Given the description of an element on the screen output the (x, y) to click on. 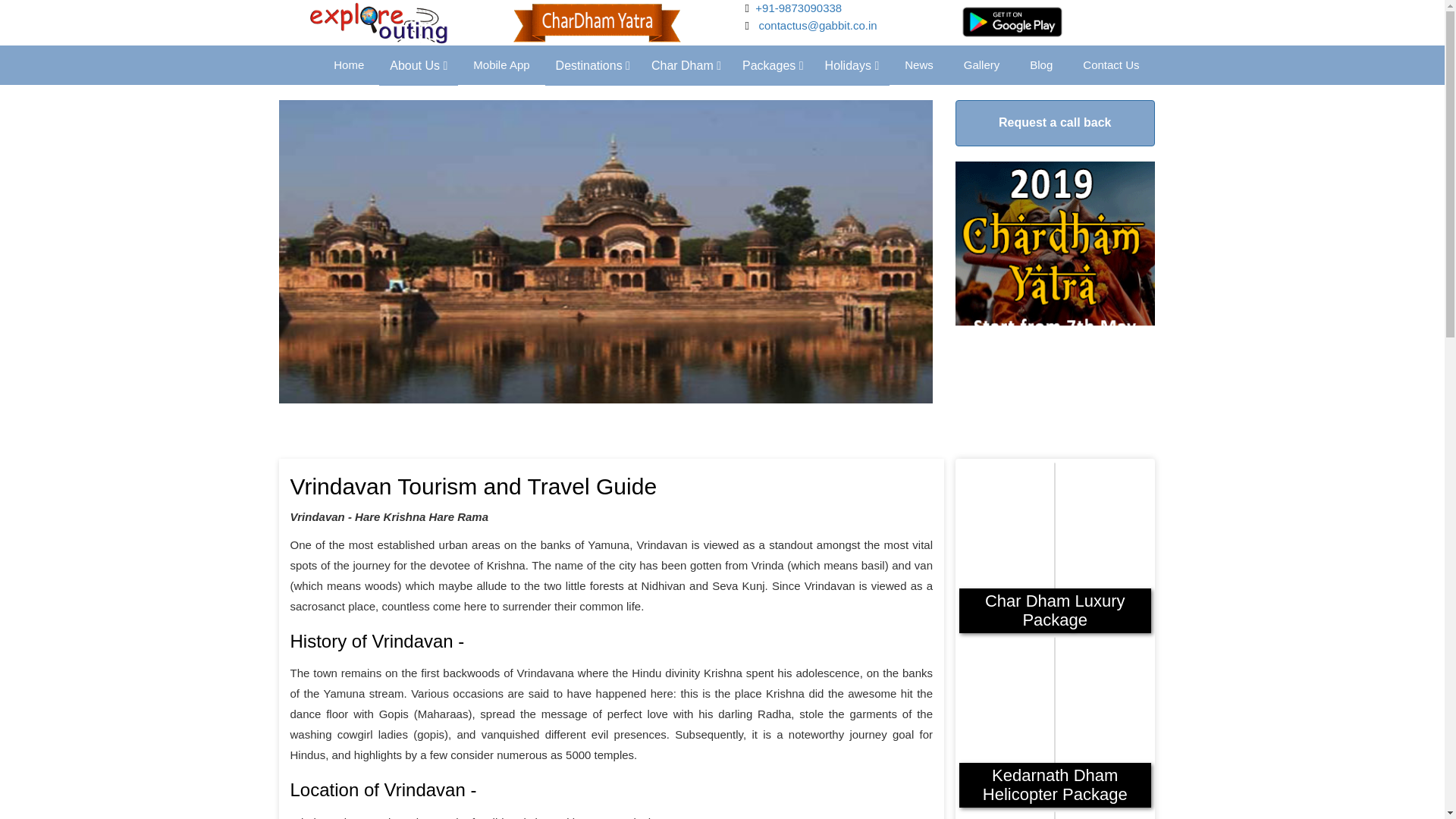
Home (348, 64)
Destinations (592, 65)
About Us (418, 65)
Char Dham (686, 65)
Mobile App (501, 64)
News (919, 64)
Packages (772, 65)
Holidays (850, 65)
Holidays (851, 65)
Packages (770, 65)
